Given the description of an element on the screen output the (x, y) to click on. 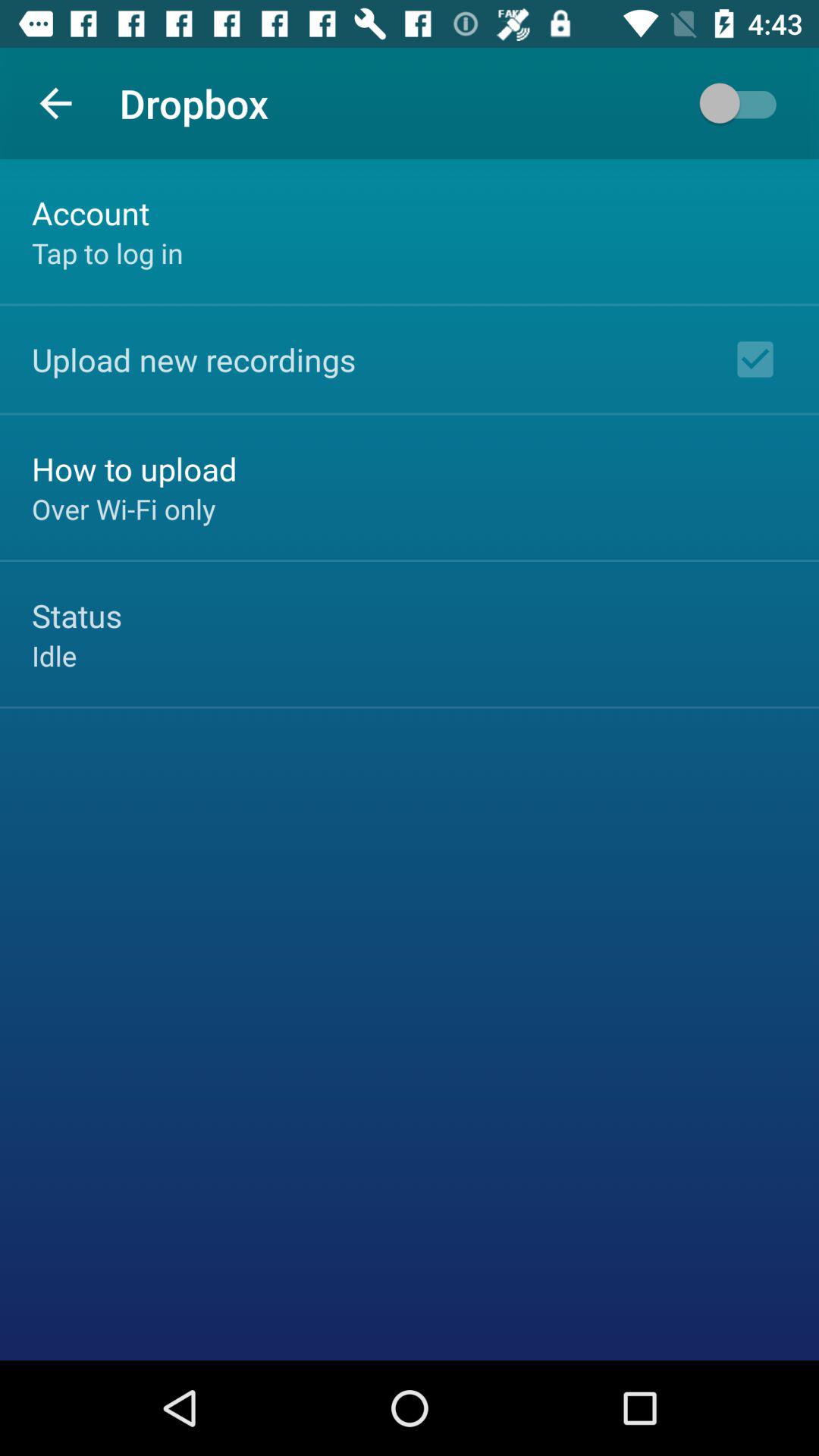
select the icon above the how to upload icon (193, 359)
